Given the description of an element on the screen output the (x, y) to click on. 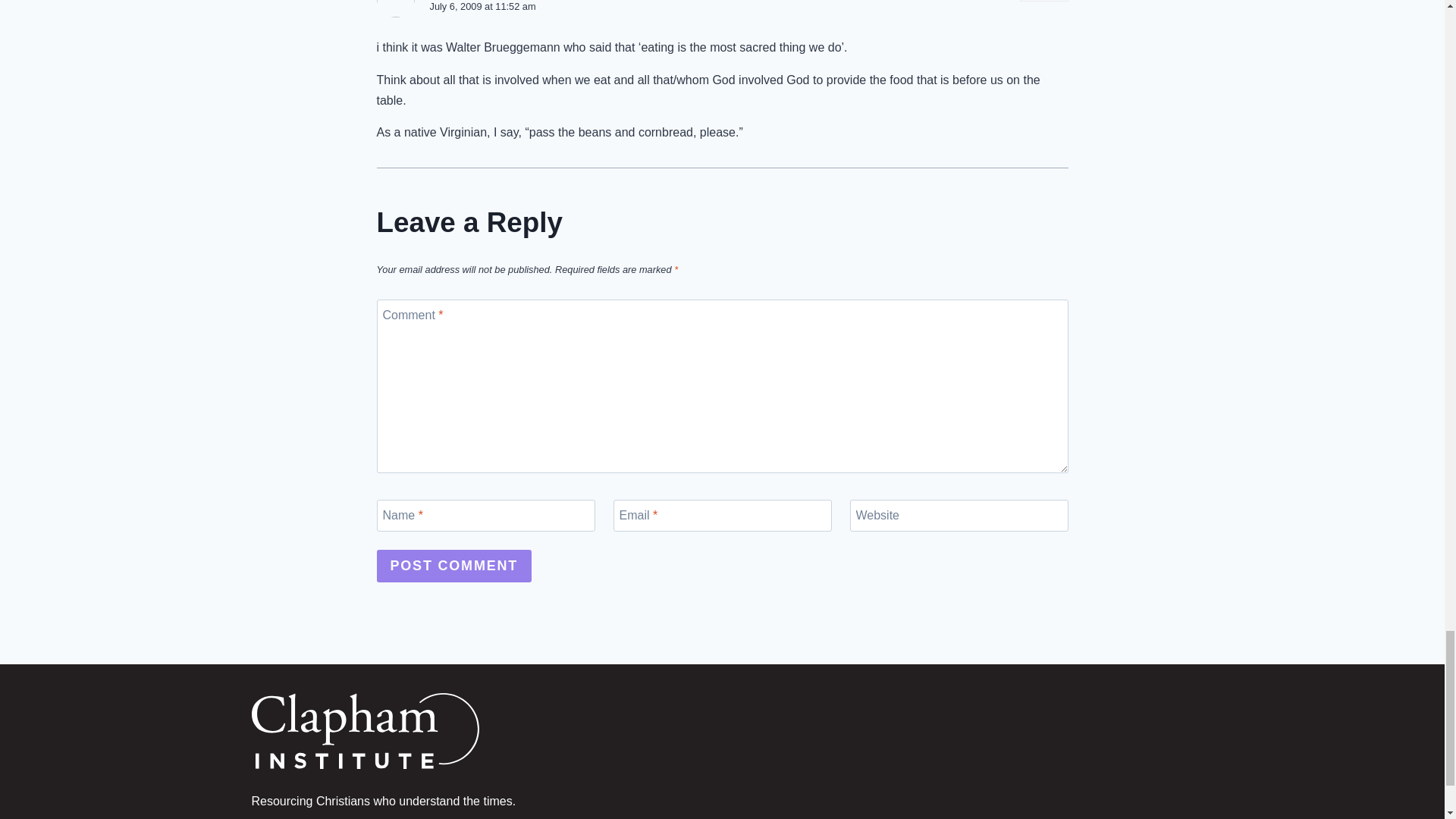
July 6, 2009 at 11:52 am (482, 6)
Reply (1044, 0)
Post Comment (453, 565)
Post Comment (453, 565)
